Given the description of an element on the screen output the (x, y) to click on. 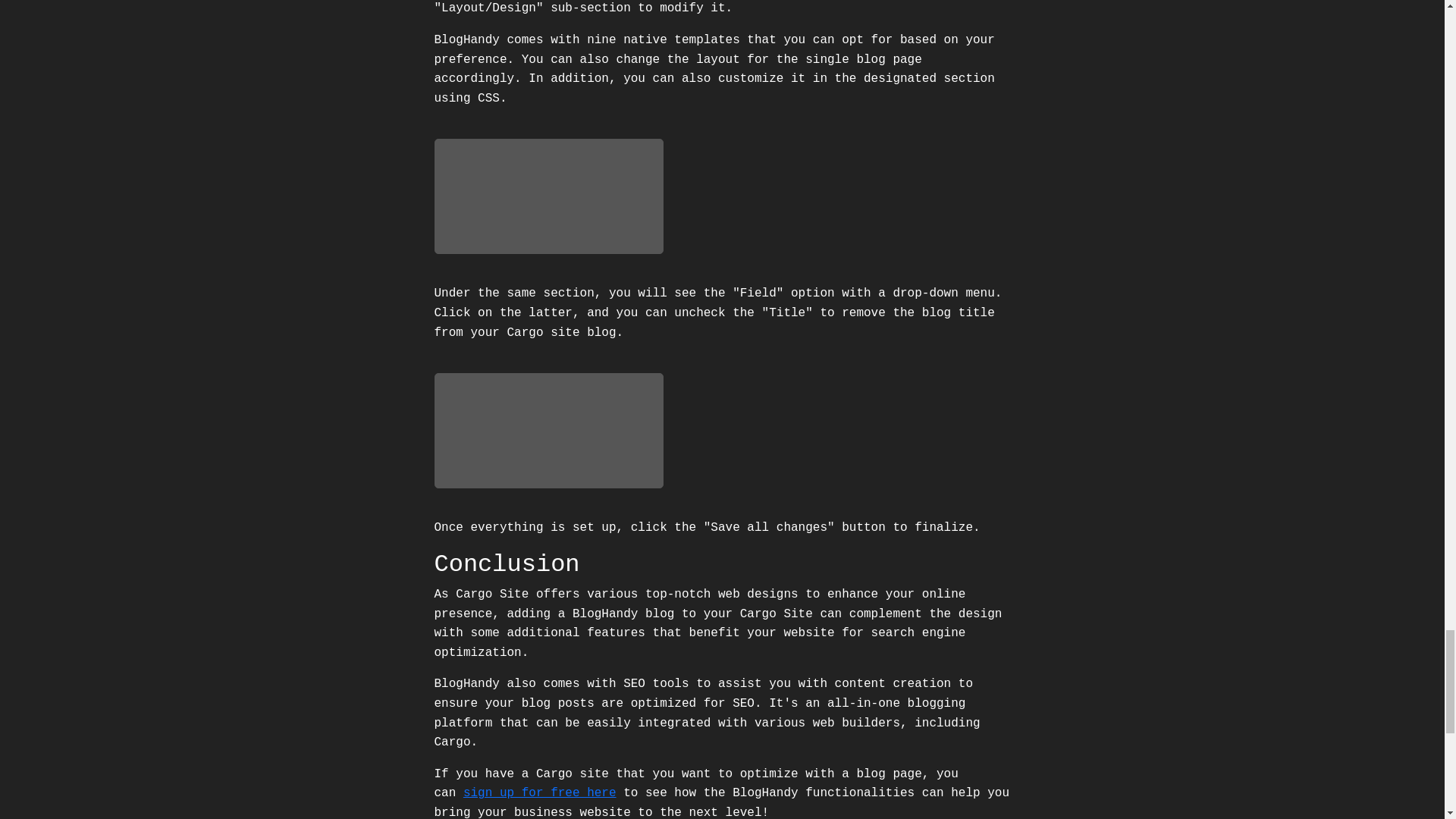
sign up for free here (539, 793)
